Given the description of an element on the screen output the (x, y) to click on. 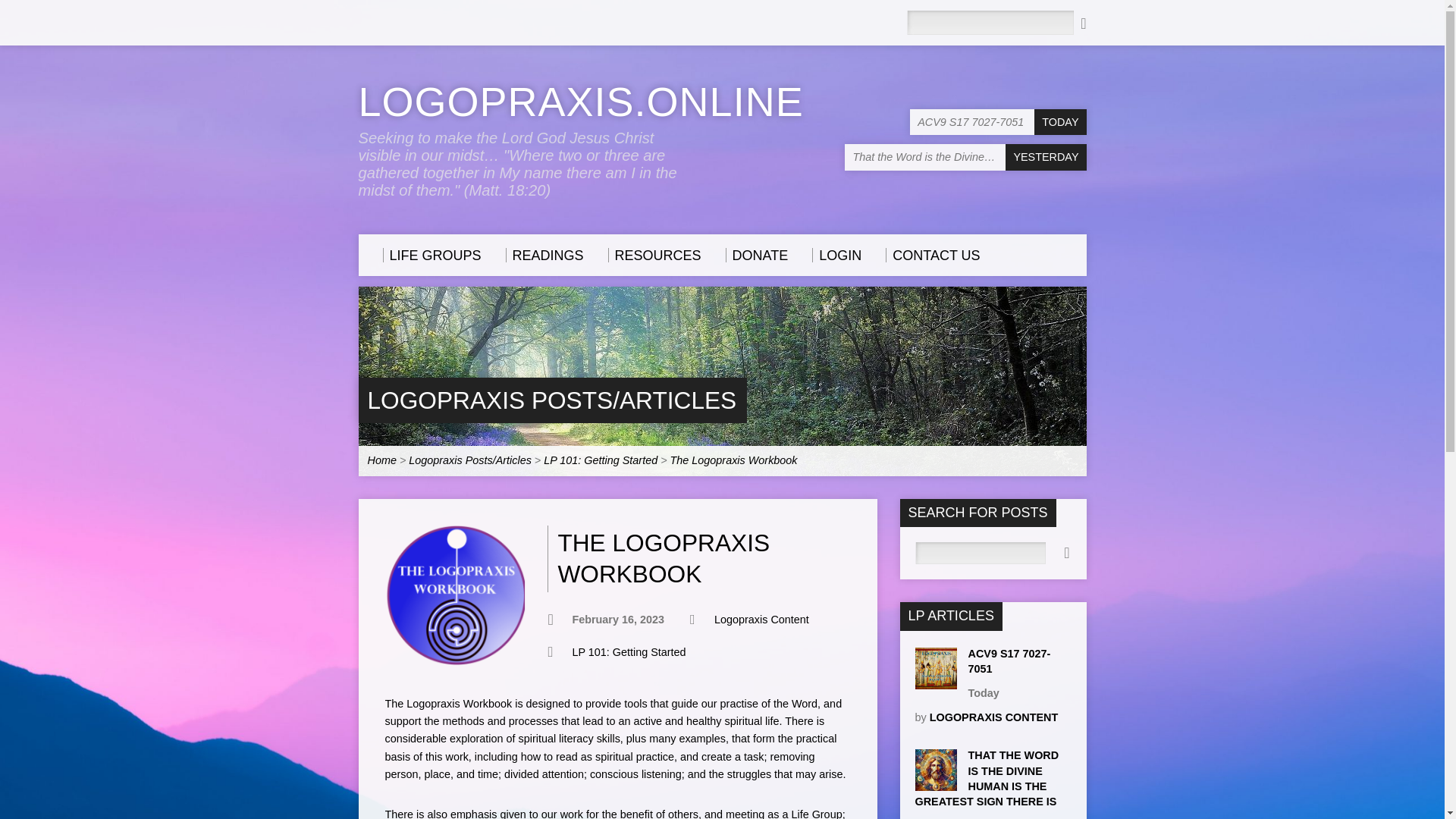
ACV9 S17 7027-7051 TODAY (998, 121)
Login Details (836, 255)
ACV9 S17 7027-7051 (1008, 660)
RESOURCES (654, 255)
ACV9 S17 7027-7051 (1008, 660)
CONTACT US (932, 255)
LP 101: Getting Started (600, 460)
LP 101: Getting Started (628, 652)
ACV9 S17 7027-7051 (935, 681)
Home (381, 460)
ACV9 S17 7027-7051 (998, 121)
LIFE GROUPS (430, 255)
Logopraxis Content (761, 619)
LOGIN (836, 255)
